Given the description of an element on the screen output the (x, y) to click on. 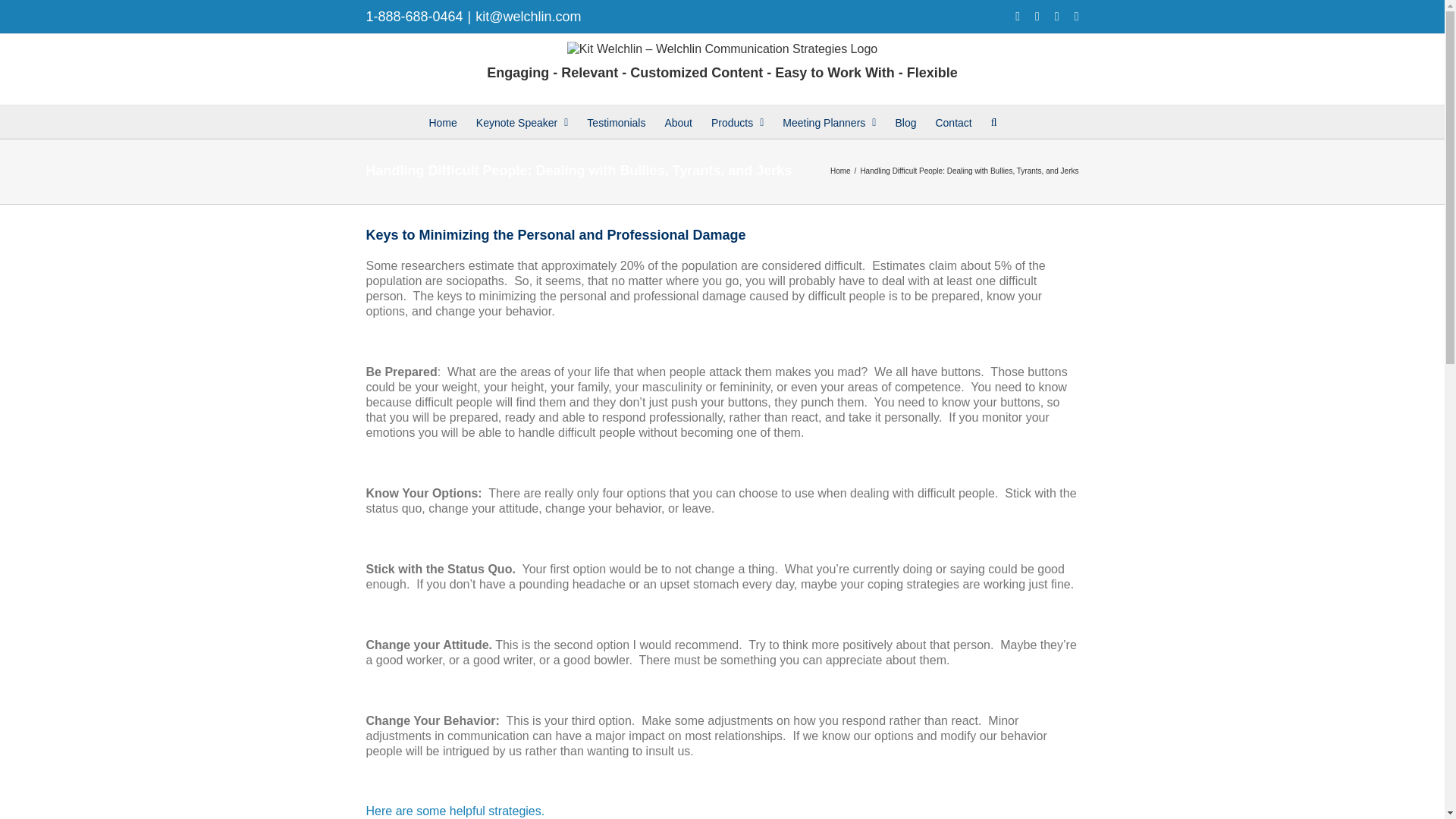
Products (736, 120)
X (1037, 16)
Meeting Planners (829, 120)
Testimonials (615, 120)
YouTube (1056, 16)
Home (442, 120)
LinkedIn (1076, 16)
Facebook (1017, 16)
Blog (905, 120)
Search (994, 120)
Keynote Speaker (522, 120)
Facebook (1017, 16)
Contact (952, 120)
YouTube (1056, 16)
LinkedIn (1076, 16)
